Given the description of an element on the screen output the (x, y) to click on. 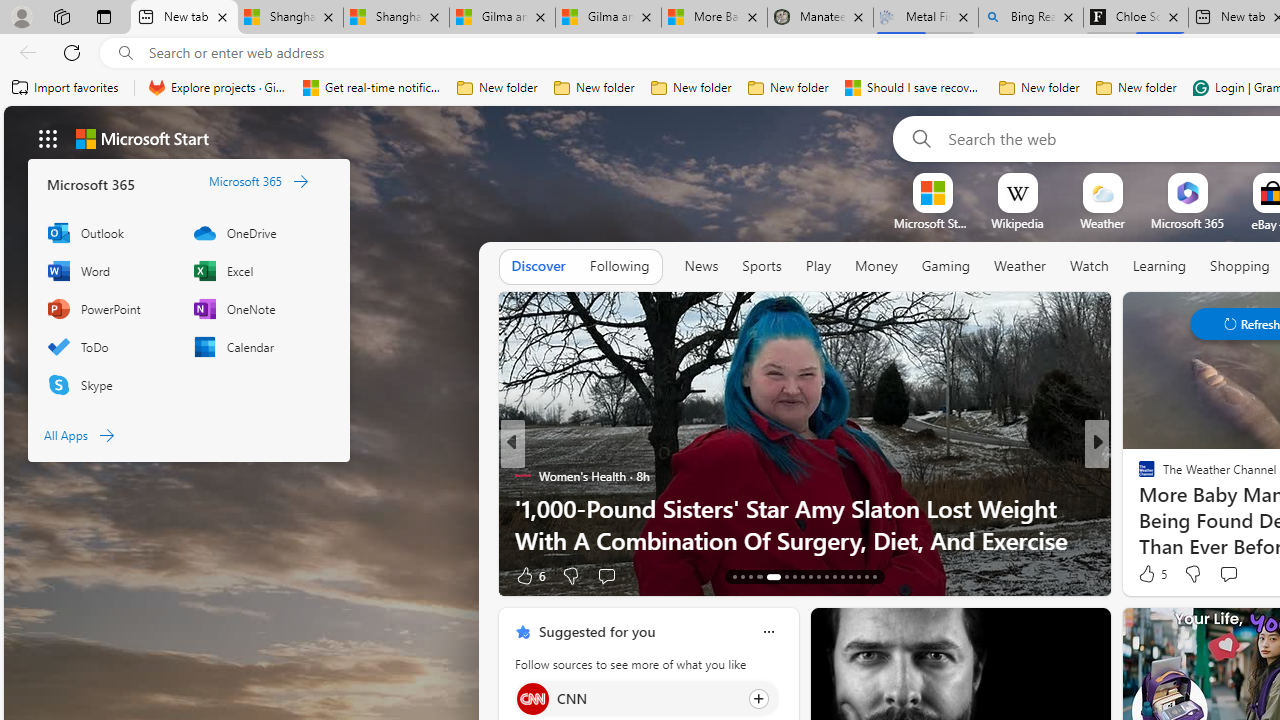
Bing Real Estate - Home sales and rental listings (1030, 17)
Should I save recovered Word documents? - Microsoft Support (913, 88)
View comments 2 Comment (1234, 574)
Calendar (255, 346)
6 Like (528, 574)
AutomationID: tab-20 (801, 576)
